Given the description of an element on the screen output the (x, y) to click on. 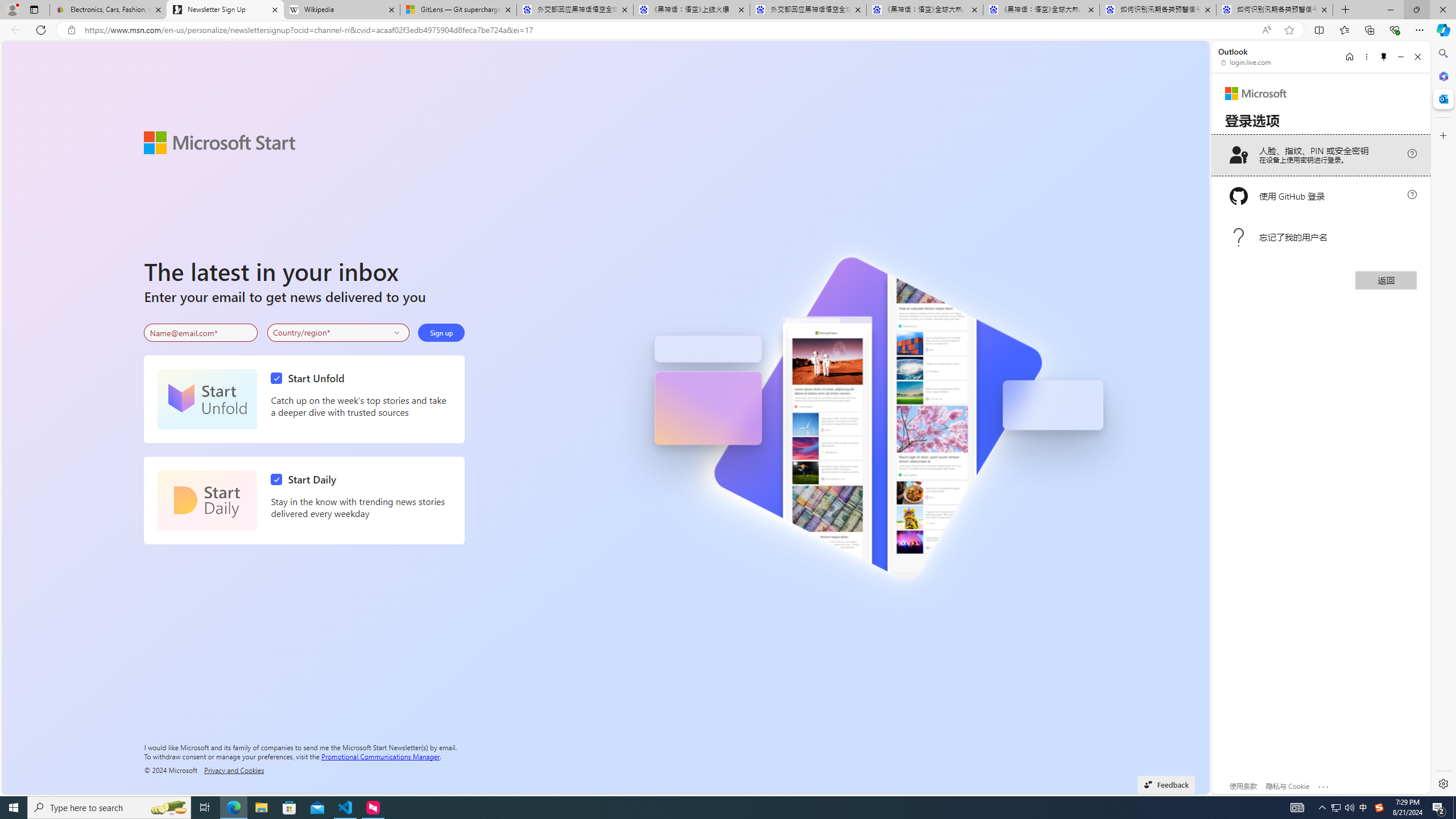
Start Unfold (310, 378)
Select your country (338, 332)
